Given the description of an element on the screen output the (x, y) to click on. 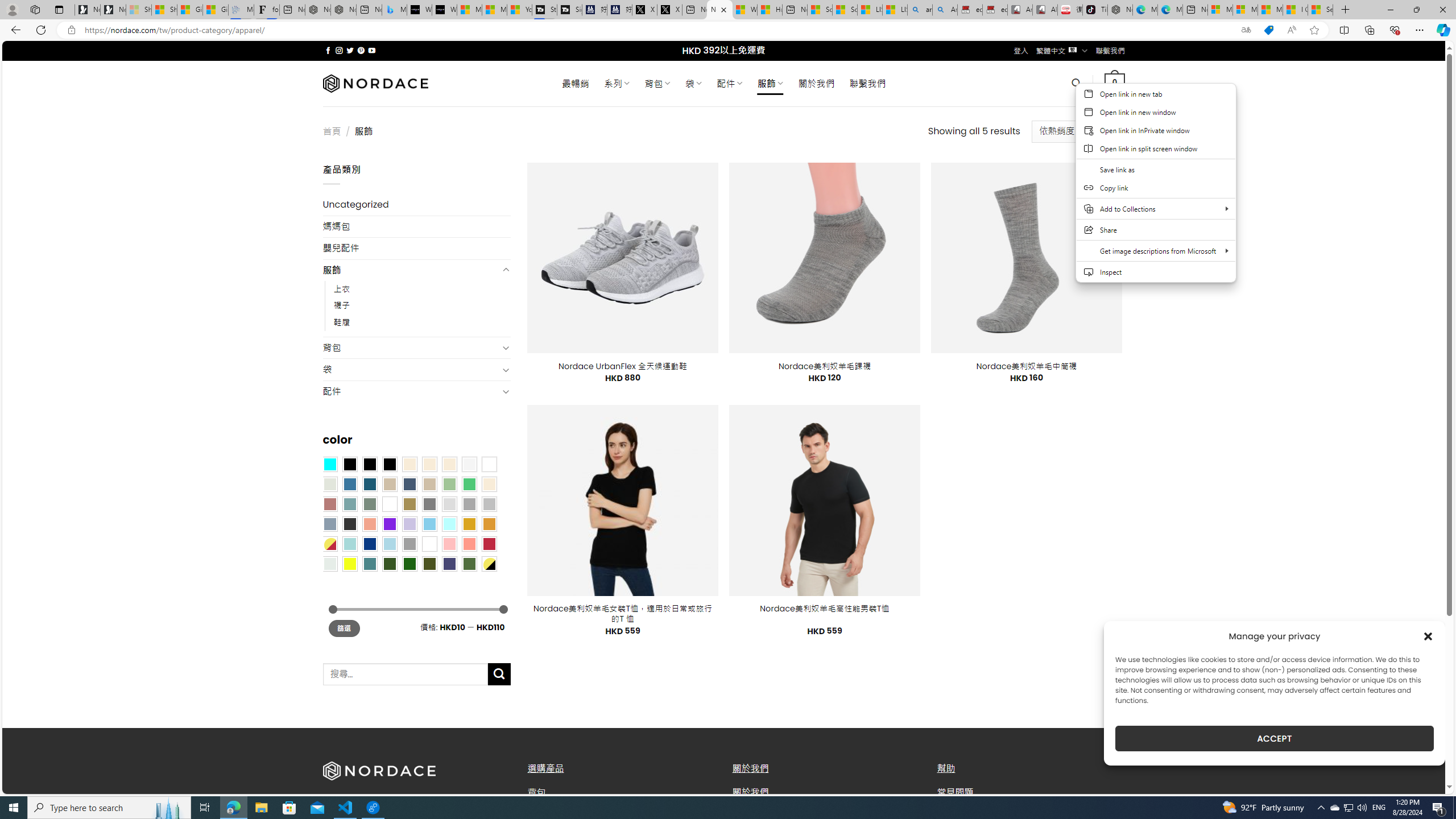
I Gained 20 Pounds of Muscle in 30 Days! | Watch (1295, 9)
